Given the description of an element on the screen output the (x, y) to click on. 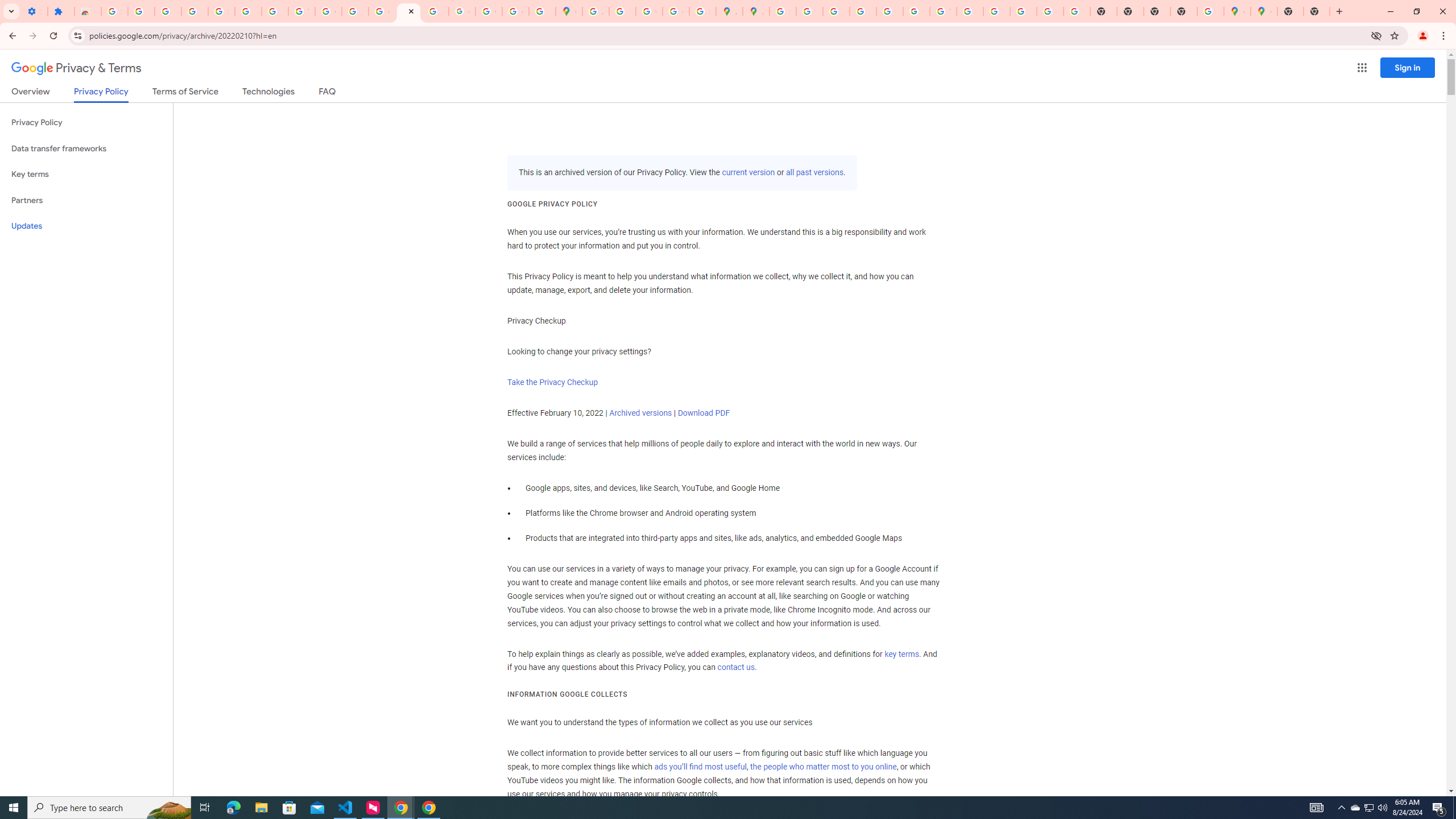
Updates (86, 225)
Partners (86, 199)
Sign in - Google Accounts (221, 11)
Sign in - Google Accounts (114, 11)
Reviews: Helix Fruit Jump Arcade Game (87, 11)
current version (748, 172)
